Given the description of an element on the screen output the (x, y) to click on. 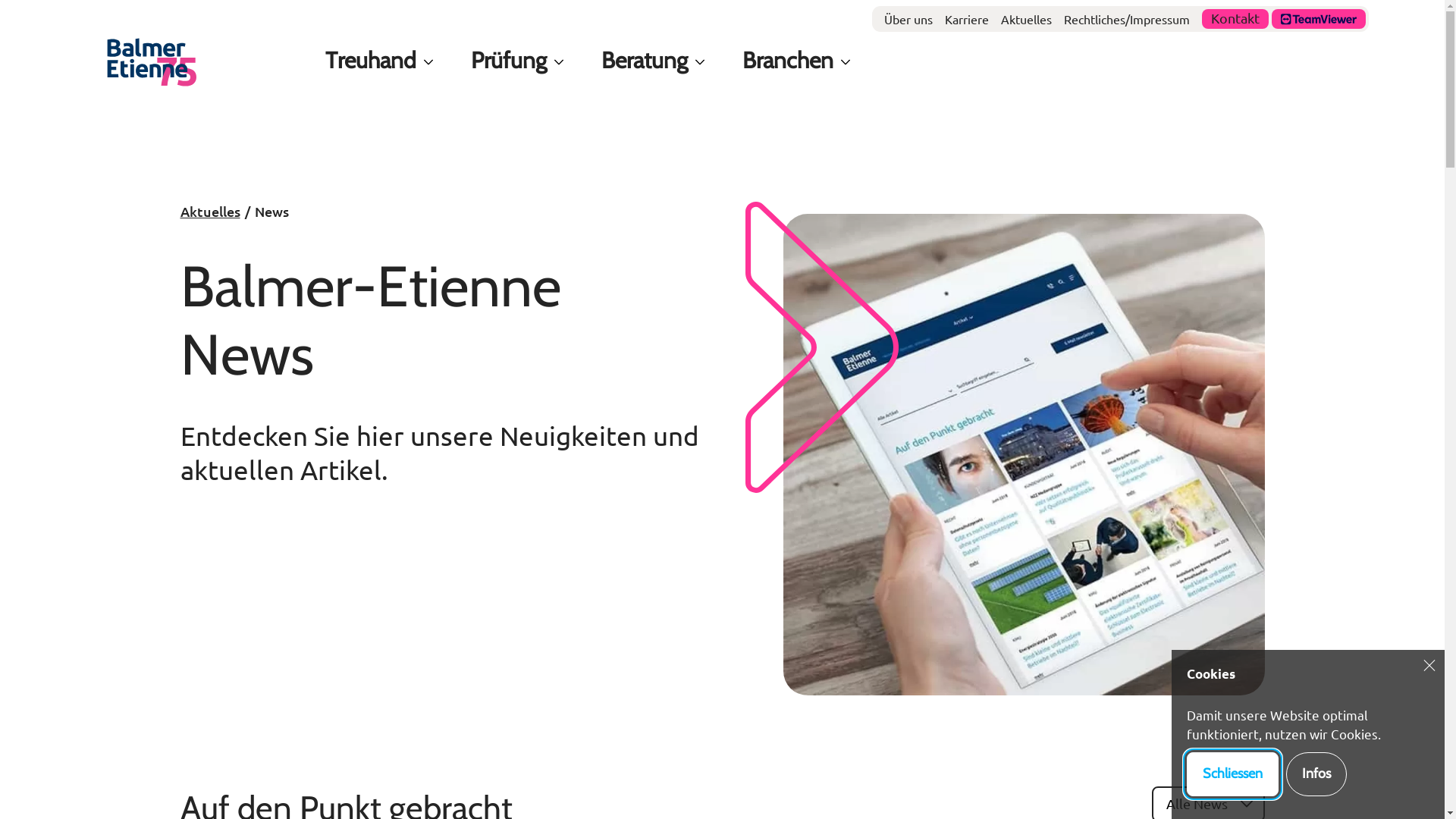
Infos Element type: text (1316, 774)
Aktuelles Element type: text (210, 211)
Kontakt Element type: text (1234, 18)
Treuhand Element type: text (370, 60)
Startseite Element type: text (151, 61)
Close Element type: text (1429, 664)
Aktuelles Element type: text (1026, 19)
Schliessen Element type: text (1232, 774)
Rechtliches/Impressum Element type: text (1126, 19)
Branchen Element type: text (787, 60)
Karriere Element type: text (966, 19)
Beratung Element type: text (644, 60)
